Given the description of an element on the screen output the (x, y) to click on. 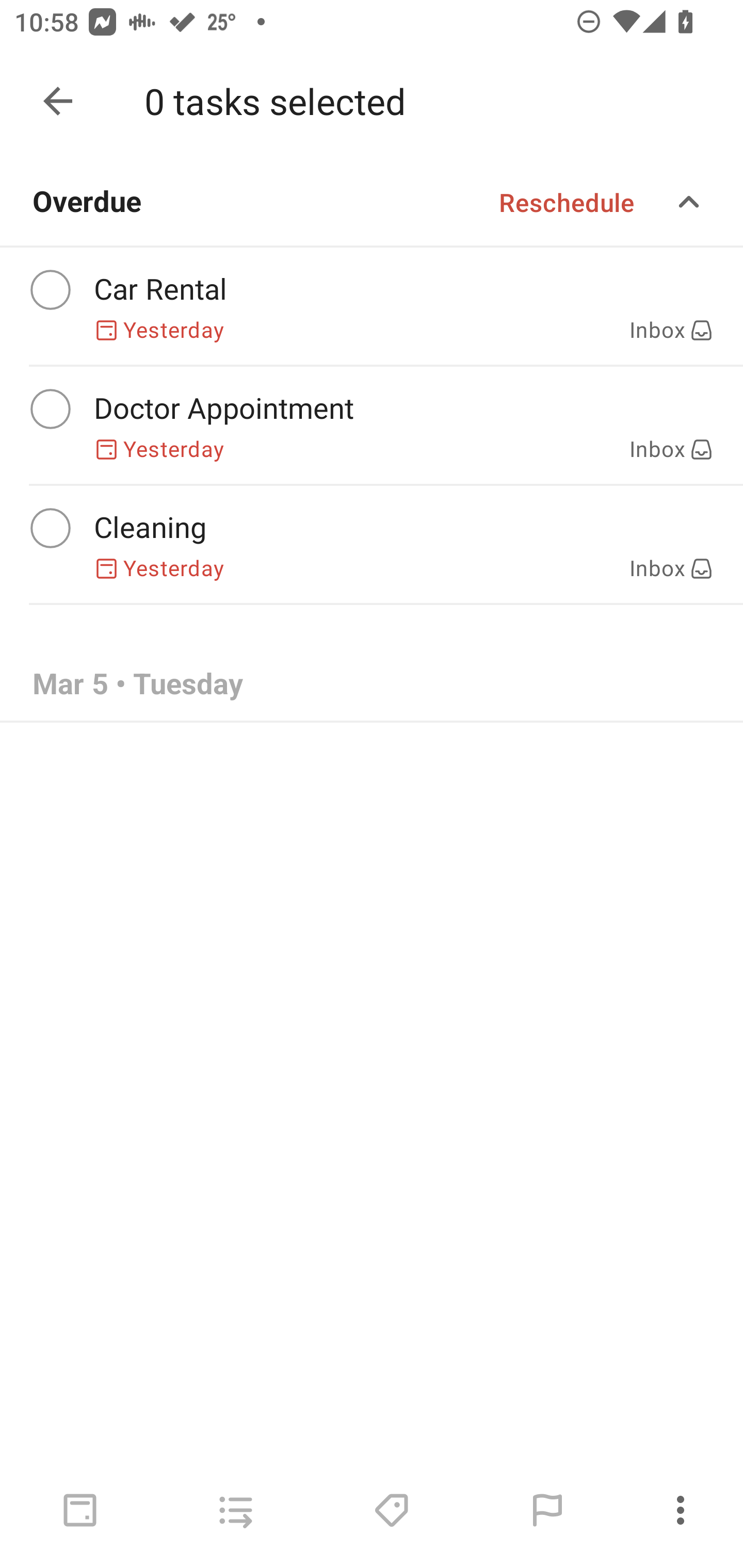
Today More options (371, 100)
Done (57, 100)
Overdue Reschedule Expand/collapse (371, 202)
Reschedule (566, 202)
Complete Car Rental Yesterday Inbox (371, 306)
Complete (50, 289)
Complete Doctor Appointment Yesterday Inbox (371, 425)
Complete (50, 409)
Complete Cleaning Yesterday Inbox (371, 544)
Complete (50, 528)
Mar 5 • Tuesday (371, 684)
Schedule (80, 1510)
Move (235, 1510)
Labels (391, 1510)
Set priority (547, 1510)
More options (683, 1510)
